Given the description of an element on the screen output the (x, y) to click on. 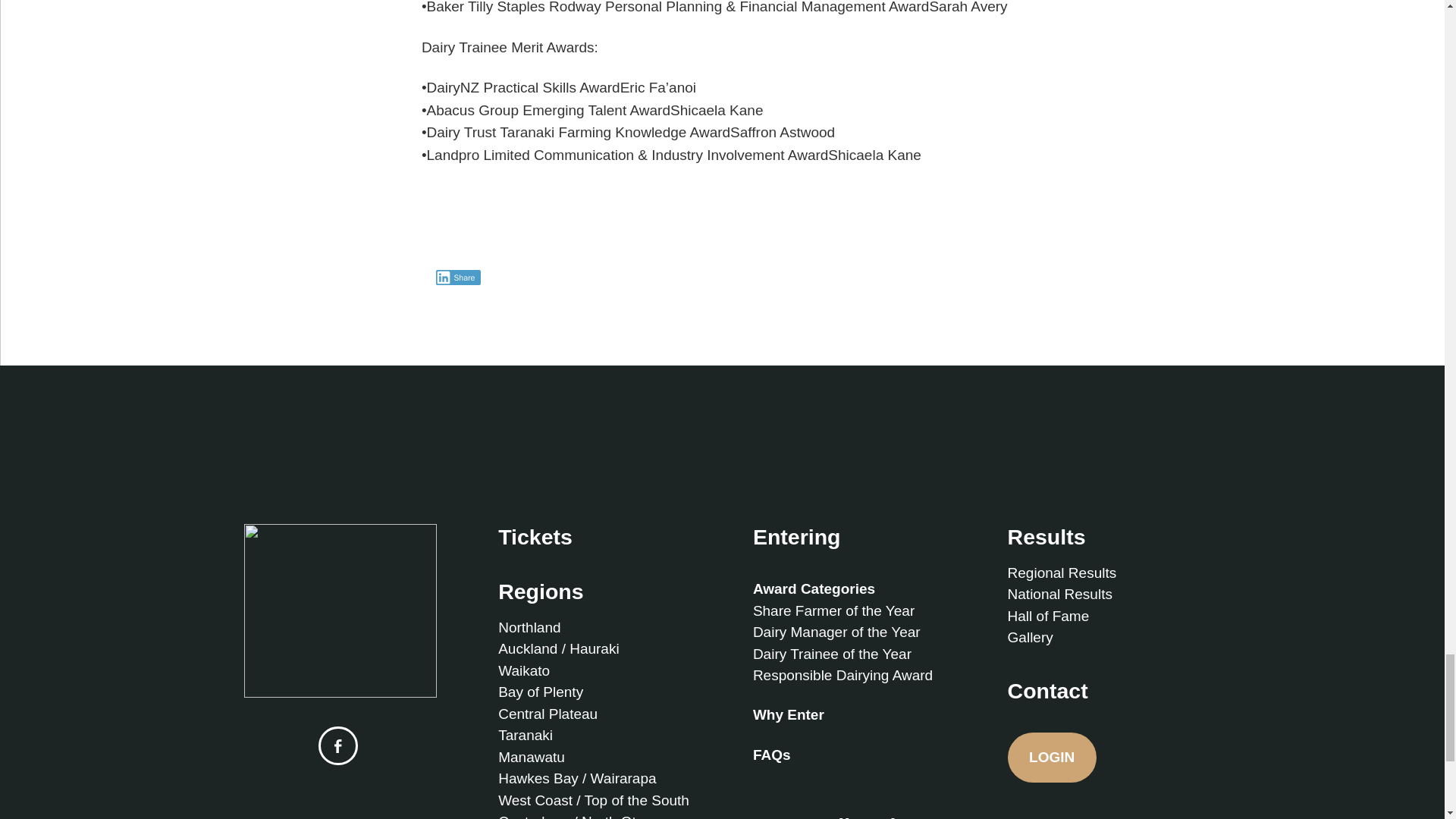
A link to this website's Facebook. (337, 745)
